Given the description of an element on the screen output the (x, y) to click on. 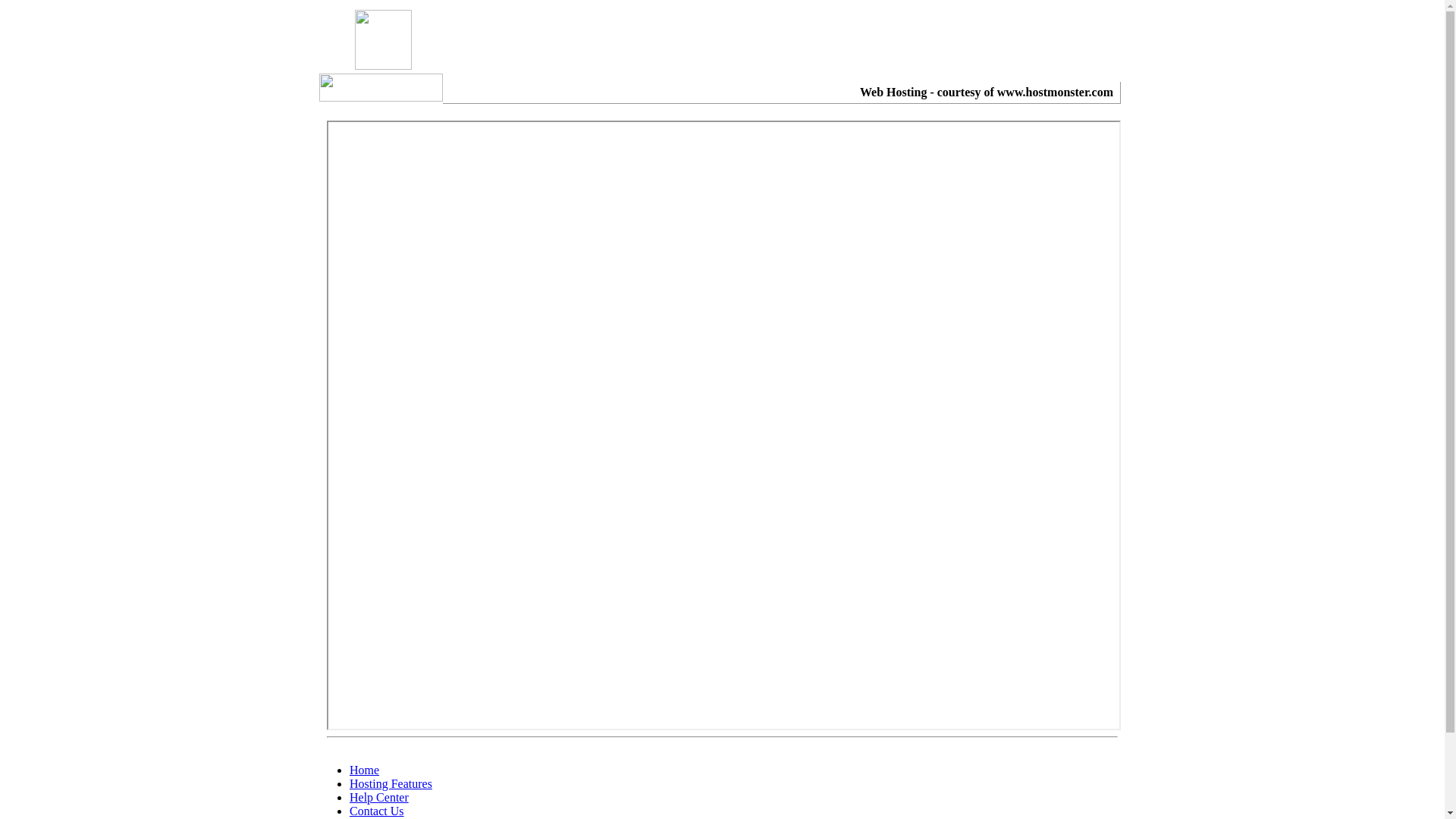
Home Element type: text (364, 769)
Web Hosting - courtesy of www.hostmonster.com Element type: text (986, 91)
Help Center Element type: text (378, 796)
Contact Us Element type: text (376, 810)
Hosting Features Element type: text (390, 783)
